Given the description of an element on the screen output the (x, y) to click on. 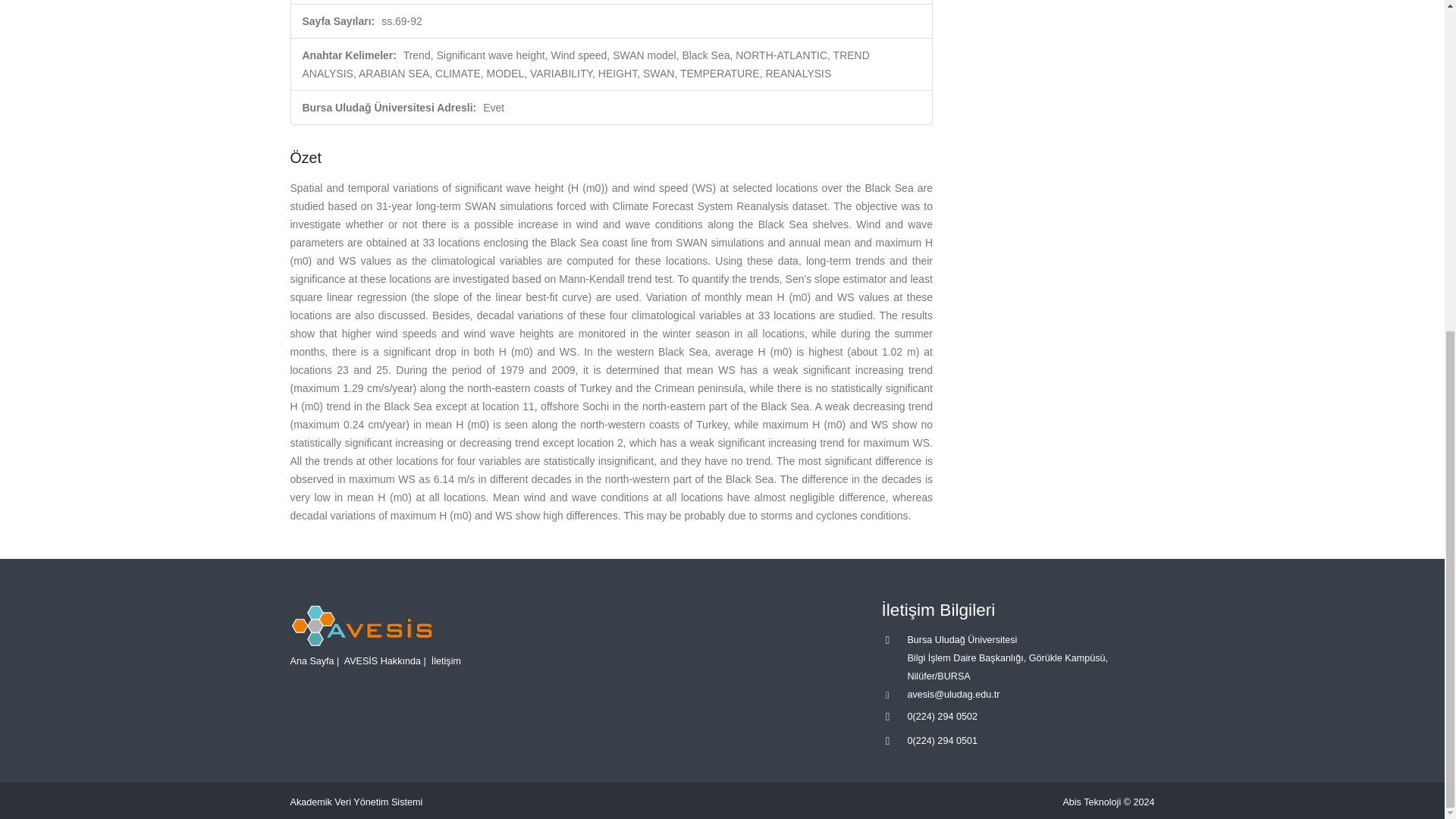
Ana Sayfa (311, 661)
Abis Teknoloji (1091, 801)
